Given the description of an element on the screen output the (x, y) to click on. 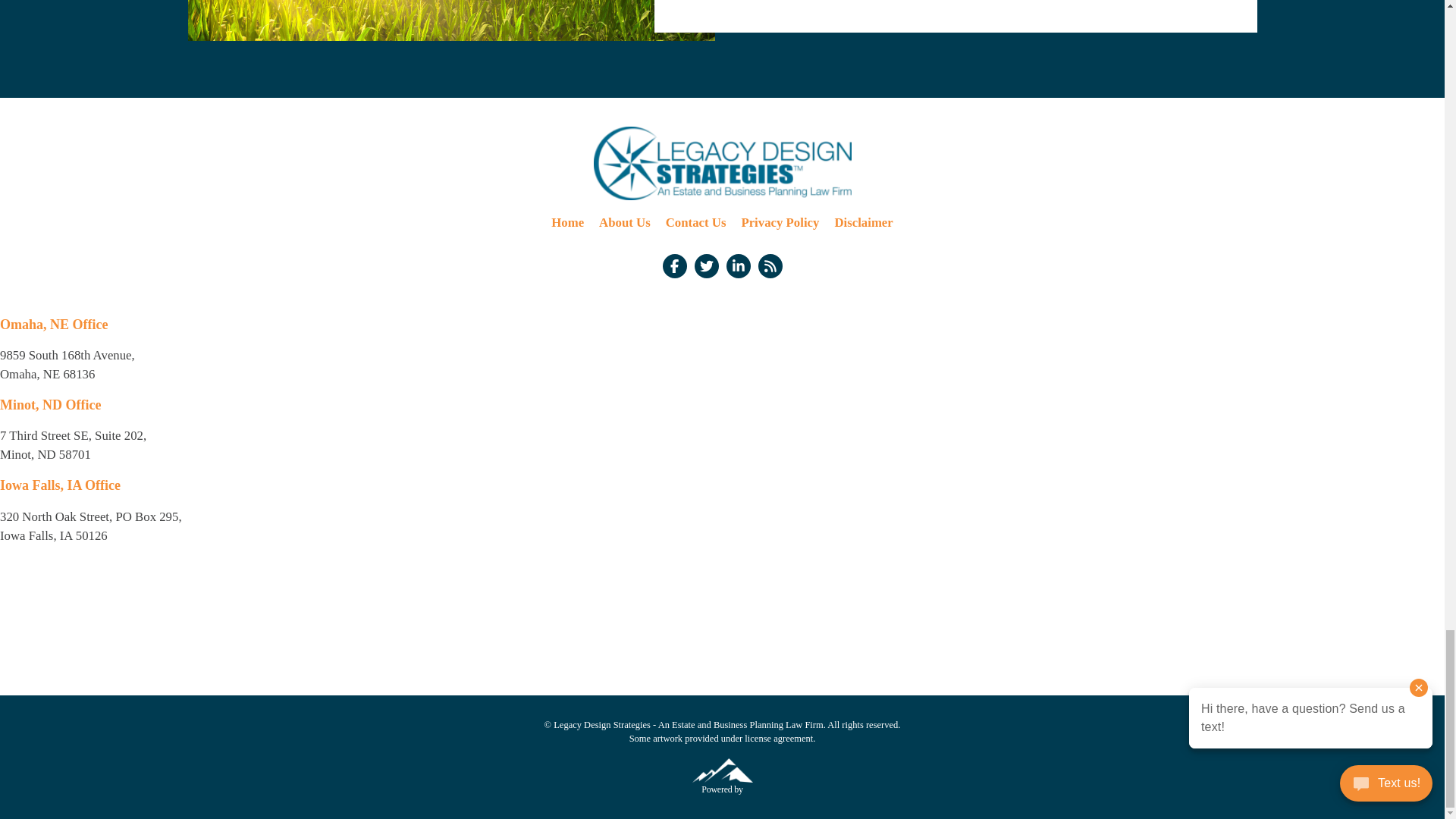
Areas We Serve (450, 20)
Powered by IMS - Opens New Window (721, 770)
